Given the description of an element on the screen output the (x, y) to click on. 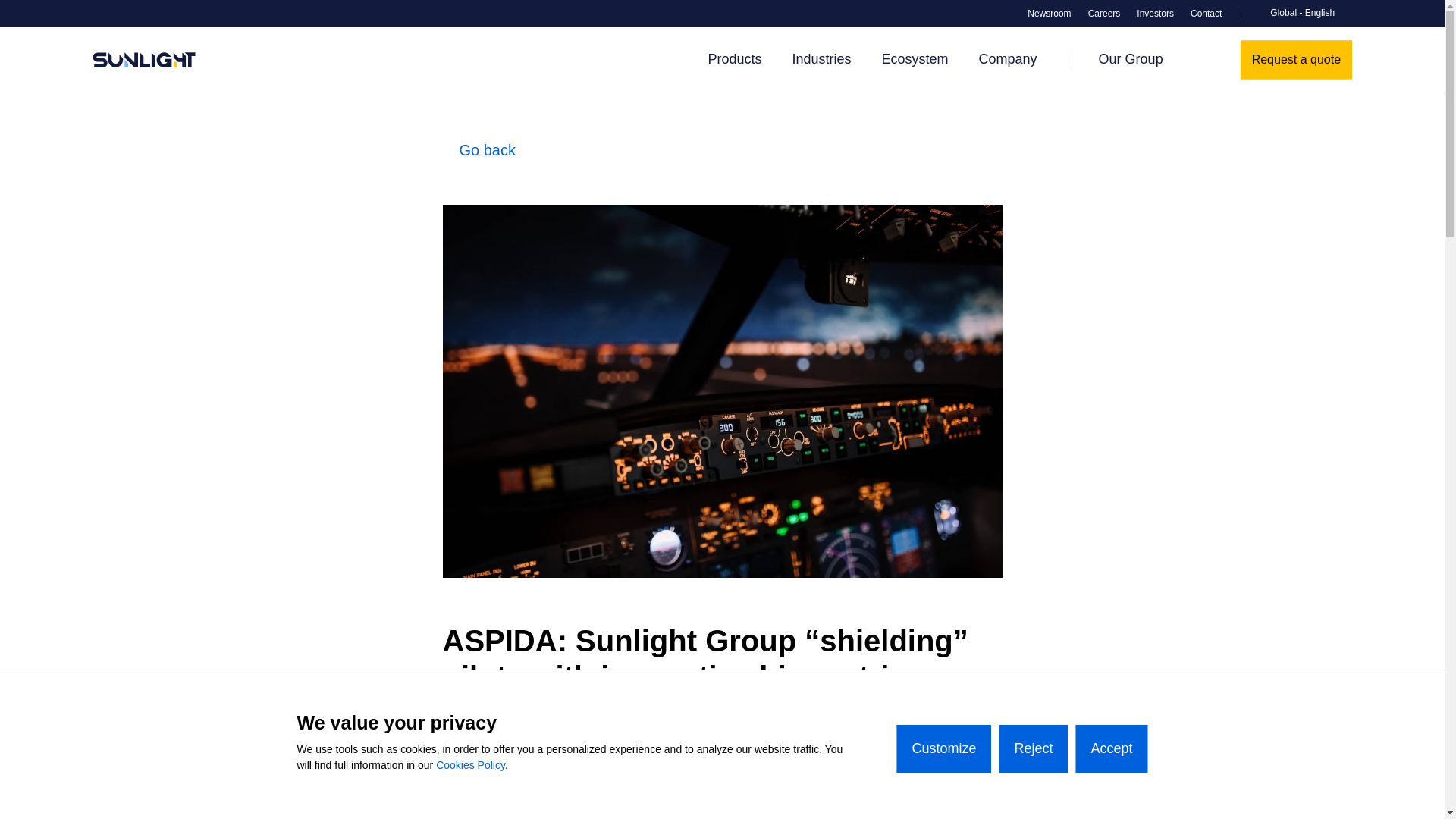
Careers (1104, 13)
Cookies Policy (470, 765)
Global - English (1294, 13)
Request a quote (1296, 59)
Ecosystem (915, 59)
Newsroom (1048, 13)
Customize (943, 748)
Reject (1032, 748)
Accept (1111, 748)
Go back (722, 149)
Industries (821, 59)
Home (144, 59)
Company (1007, 59)
Contact (1206, 13)
Our Group (1131, 59)
